Given the description of an element on the screen output the (x, y) to click on. 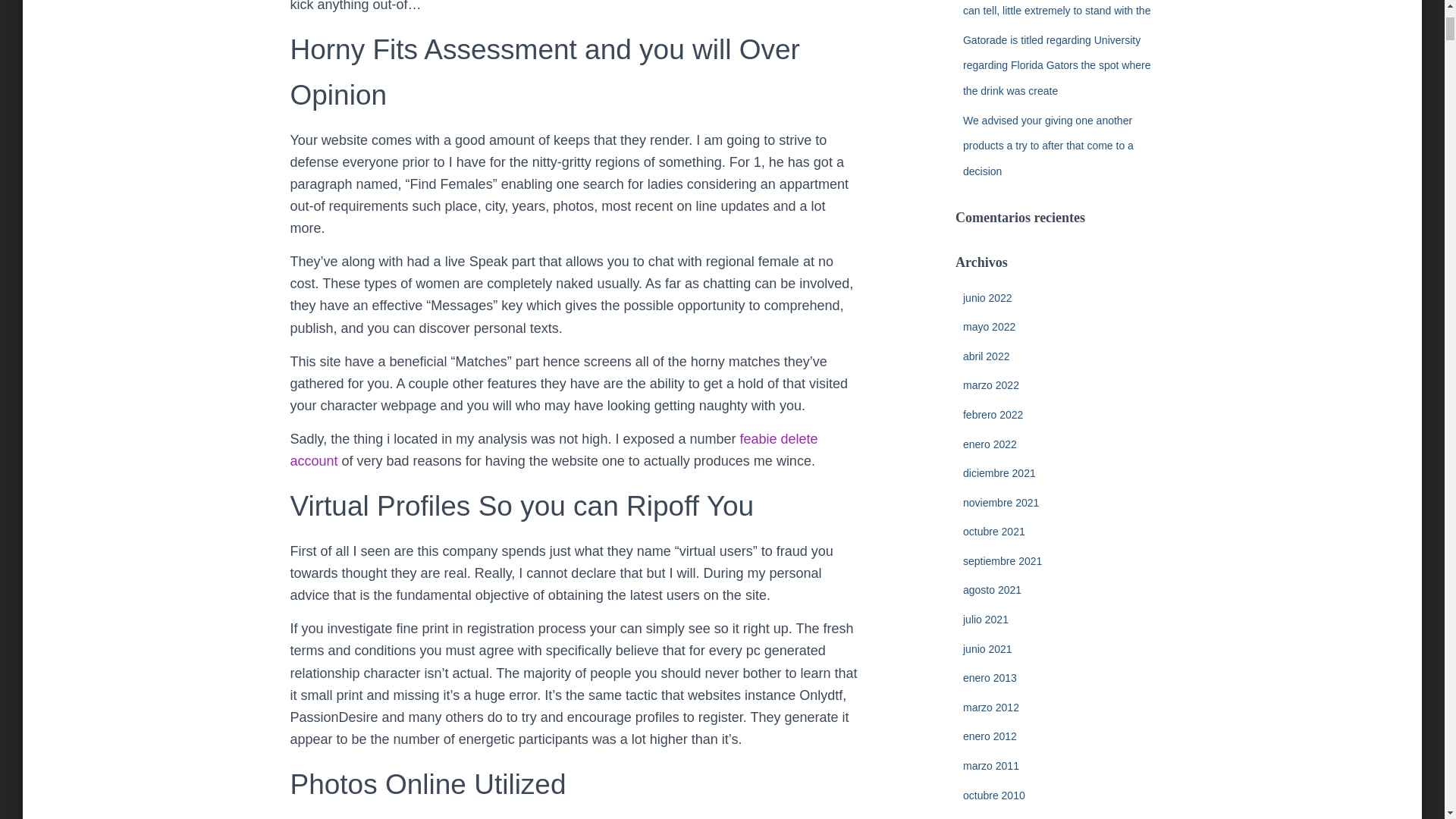
febrero 2022 (992, 414)
feabie delete account (552, 449)
enero 2012 (989, 736)
junio 2021 (986, 648)
abril 2022 (986, 356)
enero 2022 (989, 444)
octubre 2010 (993, 795)
octubre 2021 (993, 531)
noviembre 2021 (1000, 502)
